Given the description of an element on the screen output the (x, y) to click on. 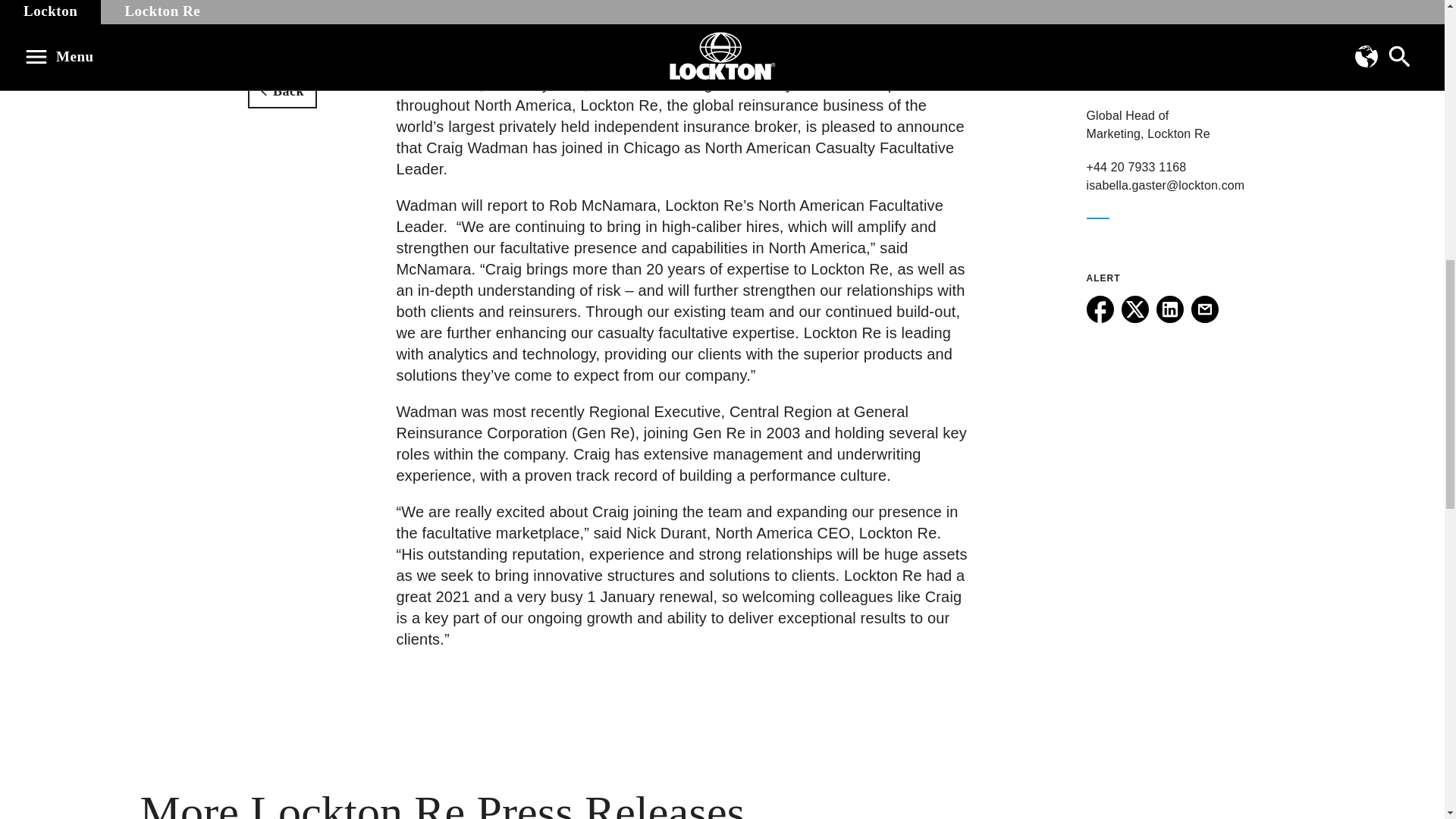
Send Lockton an Email (1204, 318)
Share Lockton on LinkedIn (1169, 318)
undefinedTwitter (1134, 308)
Follow Lockton on LinkedIn (1169, 318)
Share Lockton on Twitter (1134, 318)
Follow Lockton on Twitter (1134, 318)
undefinedLinkedIn (1169, 308)
Follow Lockton on Facebook (1099, 318)
Back (282, 90)
Follow Lockton on Email (1204, 318)
undefinedFacebook (1099, 308)
Share Lockton on Facebook (1099, 318)
